Given the description of an element on the screen output the (x, y) to click on. 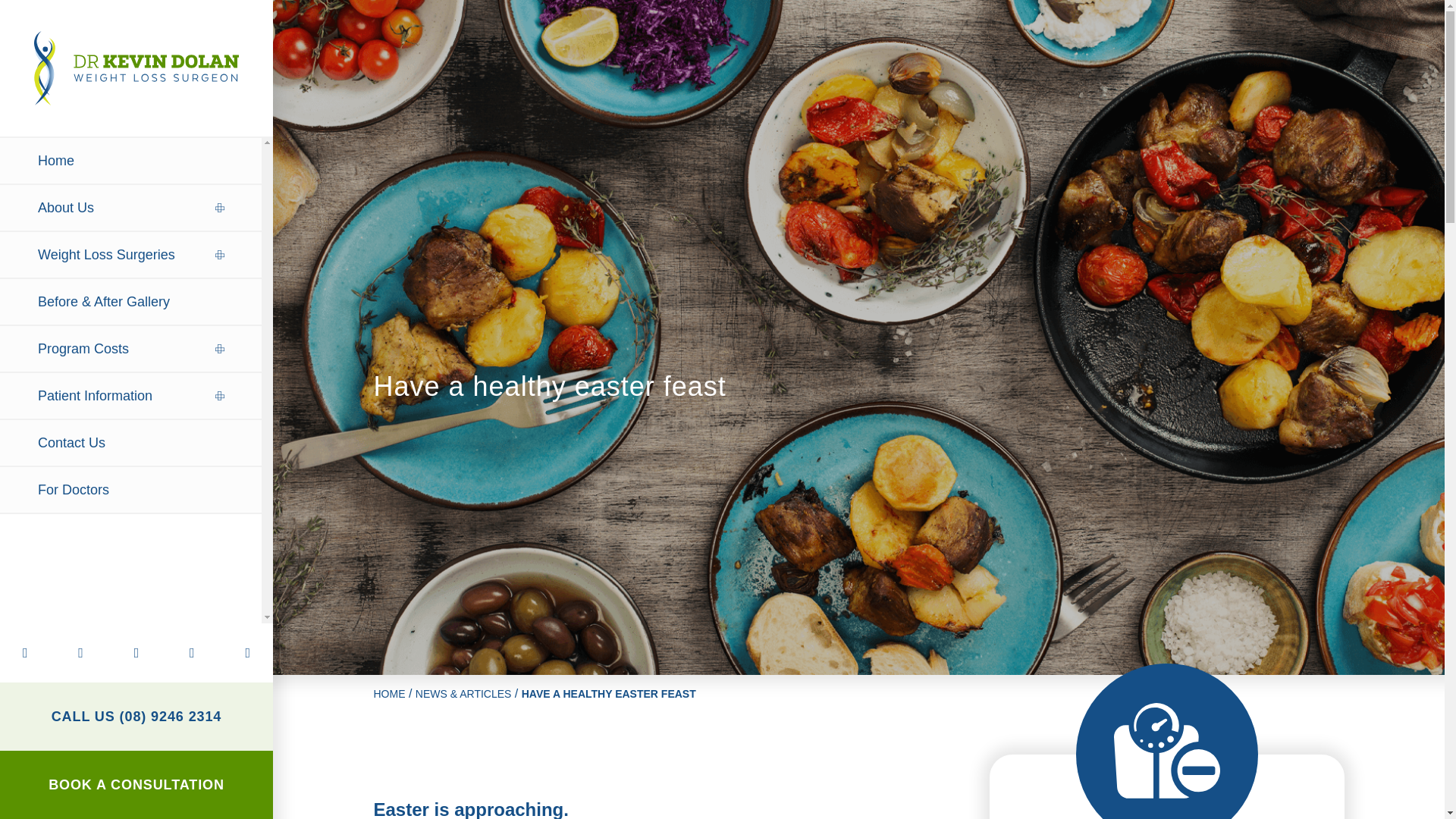
Our Team (131, 211)
Program Costs (131, 348)
Home (131, 160)
Mini Gastric Bypass (131, 220)
SADI-S (131, 258)
svg asset (135, 68)
About Us (131, 207)
Sleeve Bypass Surgery (131, 314)
Weight Loss Surgeries (131, 254)
